Given the description of an element on the screen output the (x, y) to click on. 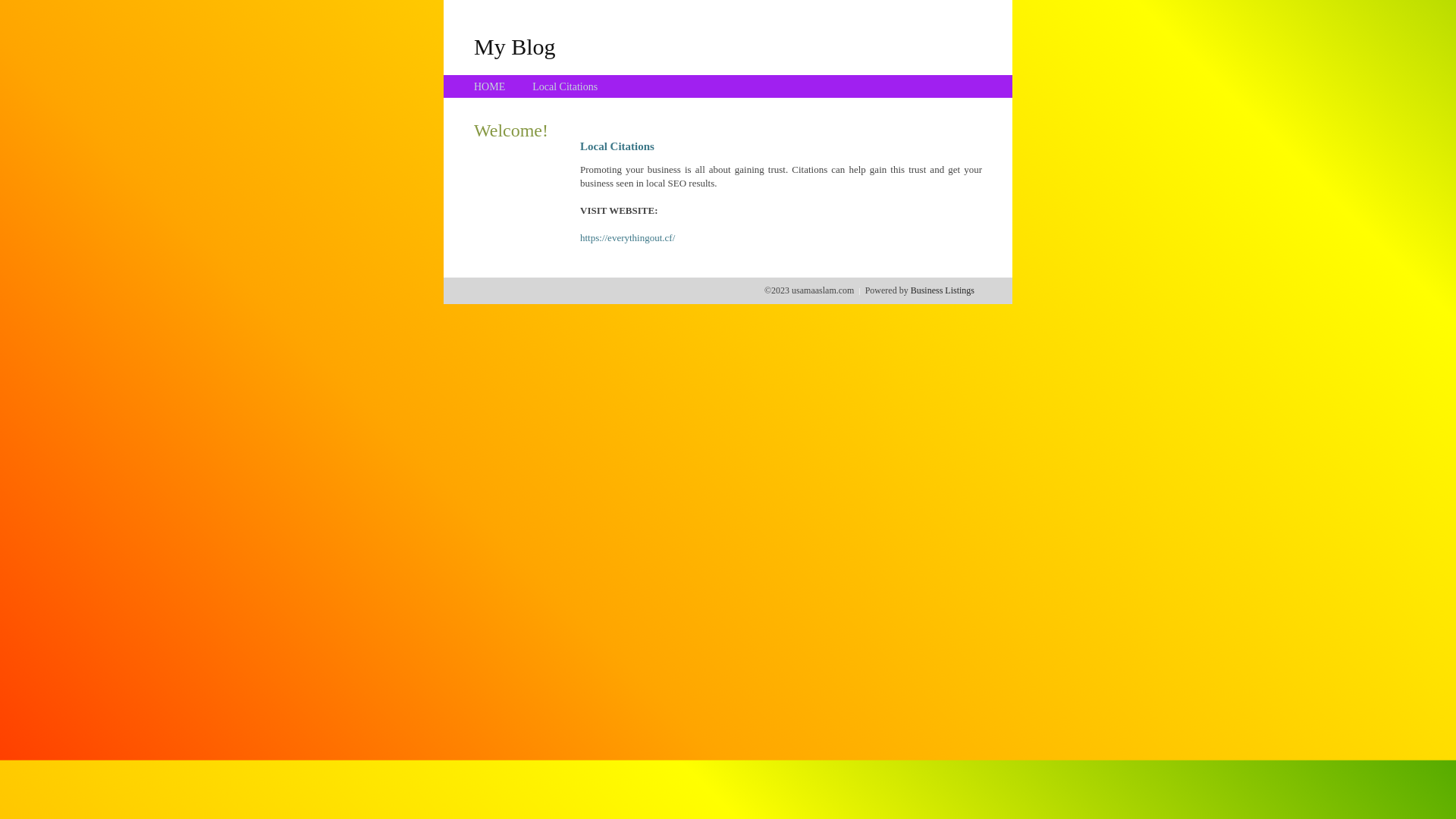
Business Listings Element type: text (942, 290)
https://everythingout.cf/ Element type: text (627, 237)
HOME Element type: text (489, 86)
My Blog Element type: text (514, 46)
Local Citations Element type: text (564, 86)
